Given the description of an element on the screen output the (x, y) to click on. 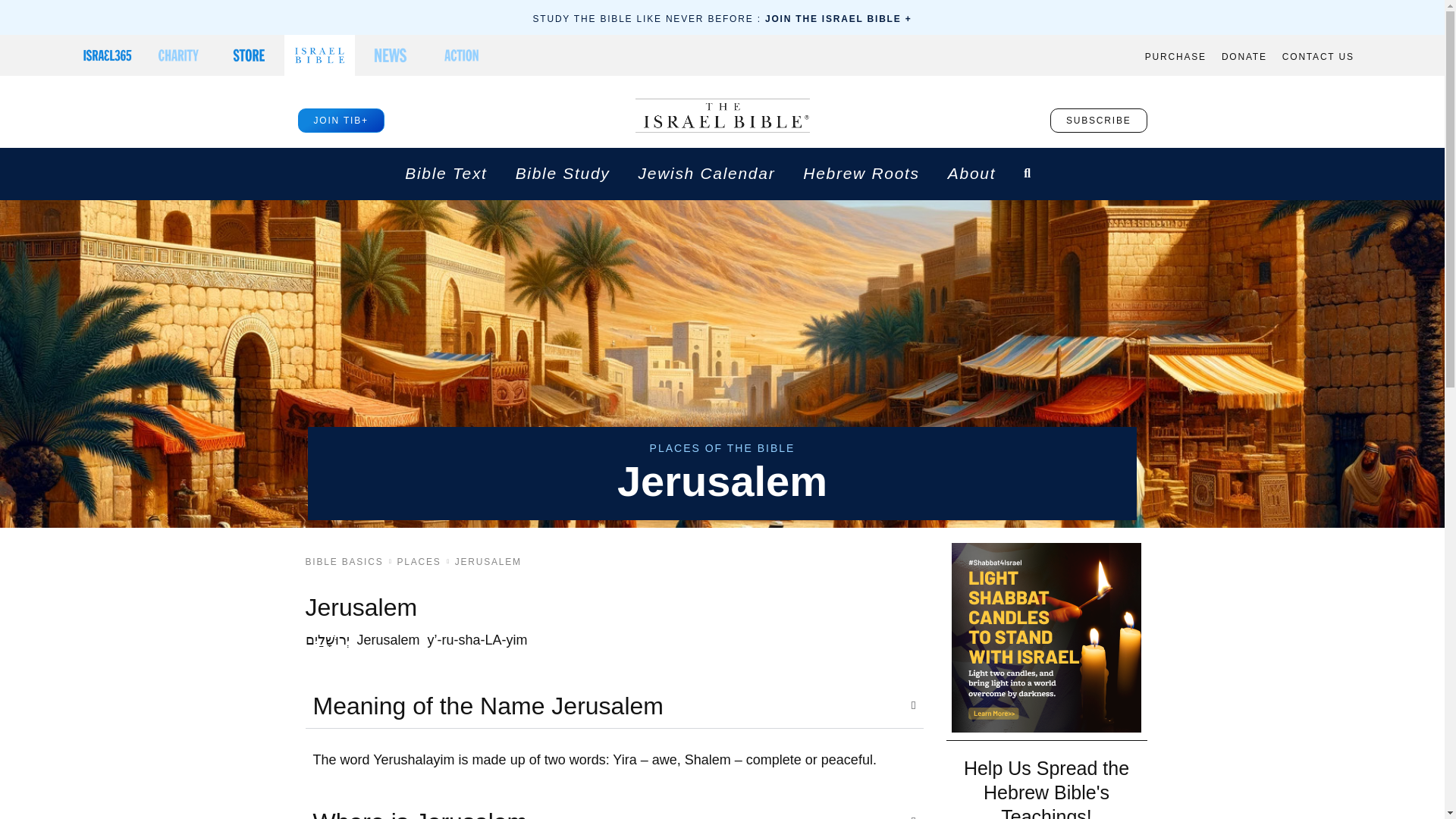
SUBSCRIBE (1098, 120)
DONATE (1243, 56)
CONTACT US (1318, 56)
PURCHASE (1175, 56)
